Given the description of an element on the screen output the (x, y) to click on. 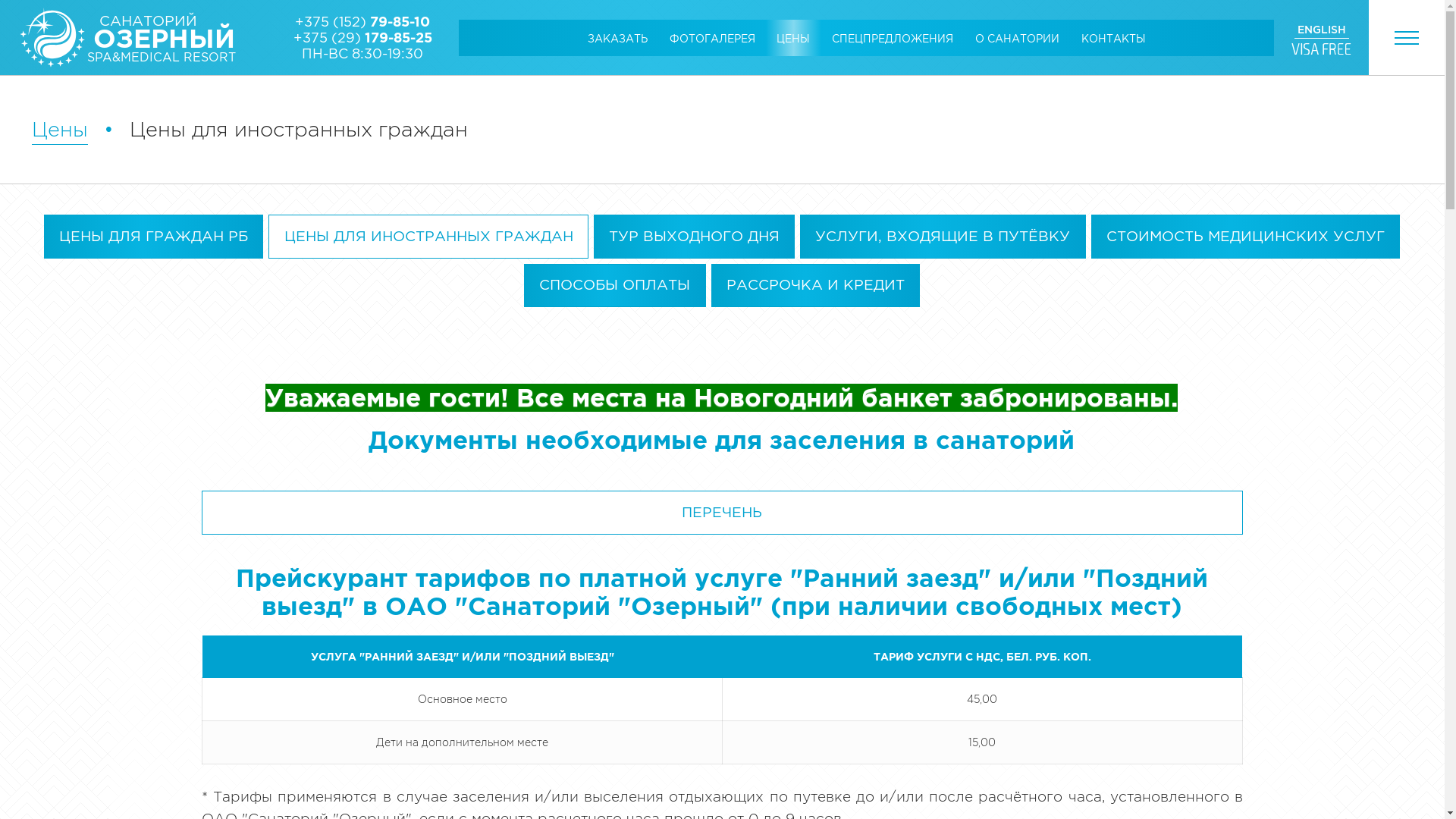
+375 (152) 79-85-10 Element type: text (362, 21)
+375 (29) 179-85-25 Element type: text (362, 37)
ENGLISH Element type: text (1321, 29)
